Given the description of an element on the screen output the (x, y) to click on. 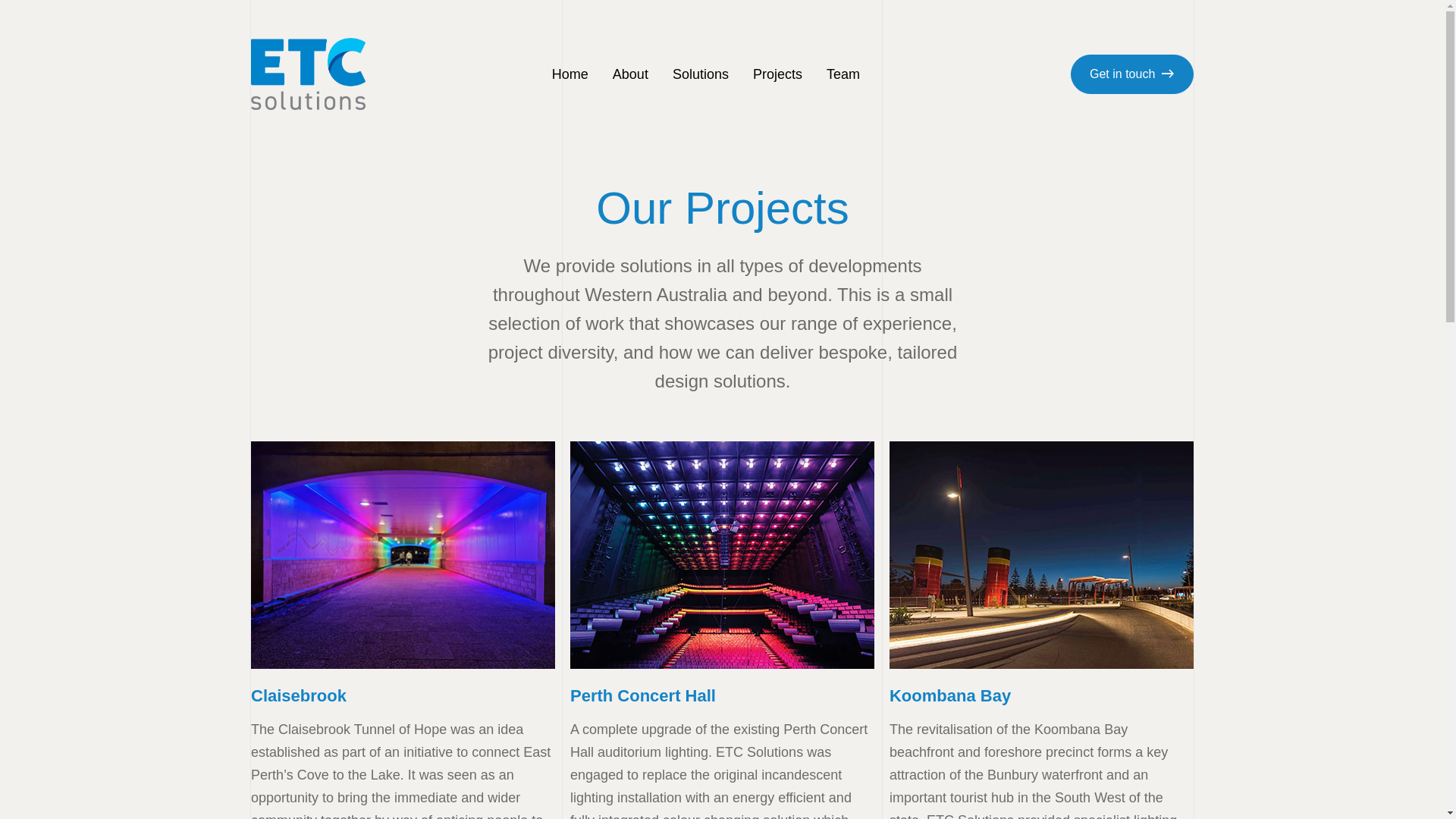
Home Element type: text (570, 73)
Home Element type: text (667, 573)
Team Element type: text (842, 73)
Team Element type: text (665, 707)
Projects Element type: text (777, 73)
About Element type: text (630, 73)
Solutions Element type: text (677, 640)
etc@etcpl.com.au Element type: text (1015, 693)
08 9328 5500 Element type: text (1002, 670)
etcpl.com.au Element type: text (999, 716)
Projects Element type: text (673, 673)
Solutions Element type: text (700, 73)
About Element type: text (666, 607)
